Given the description of an element on the screen output the (x, y) to click on. 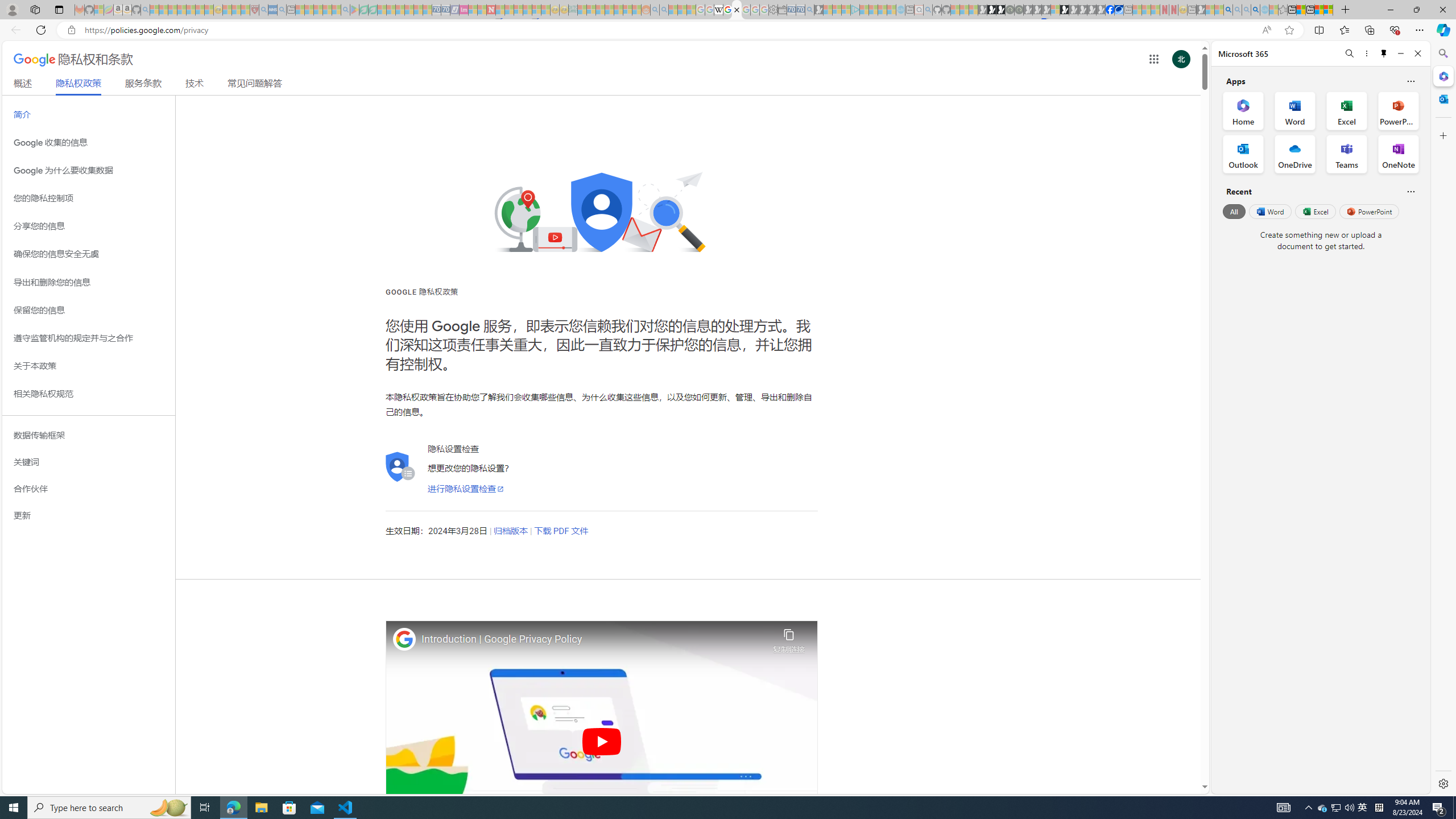
Home Office App (1243, 110)
PowerPoint (1369, 210)
Word Office App (1295, 110)
Privacy Help Center - Policies Help (726, 9)
utah sues federal government - Search - Sleeping (281, 9)
Excel (1315, 210)
